Given the description of an element on the screen output the (x, y) to click on. 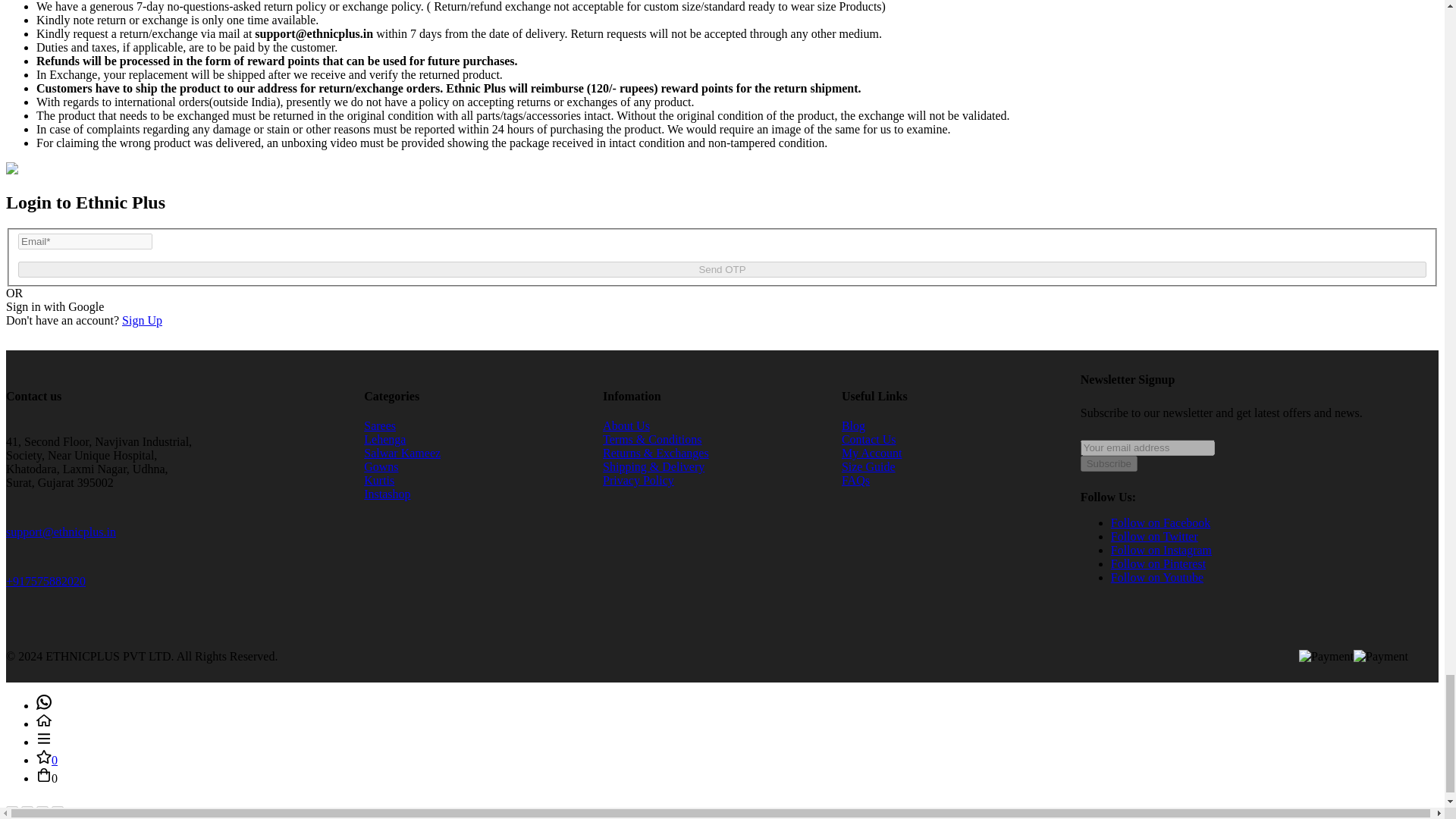
Email (84, 241)
